Given the description of an element on the screen output the (x, y) to click on. 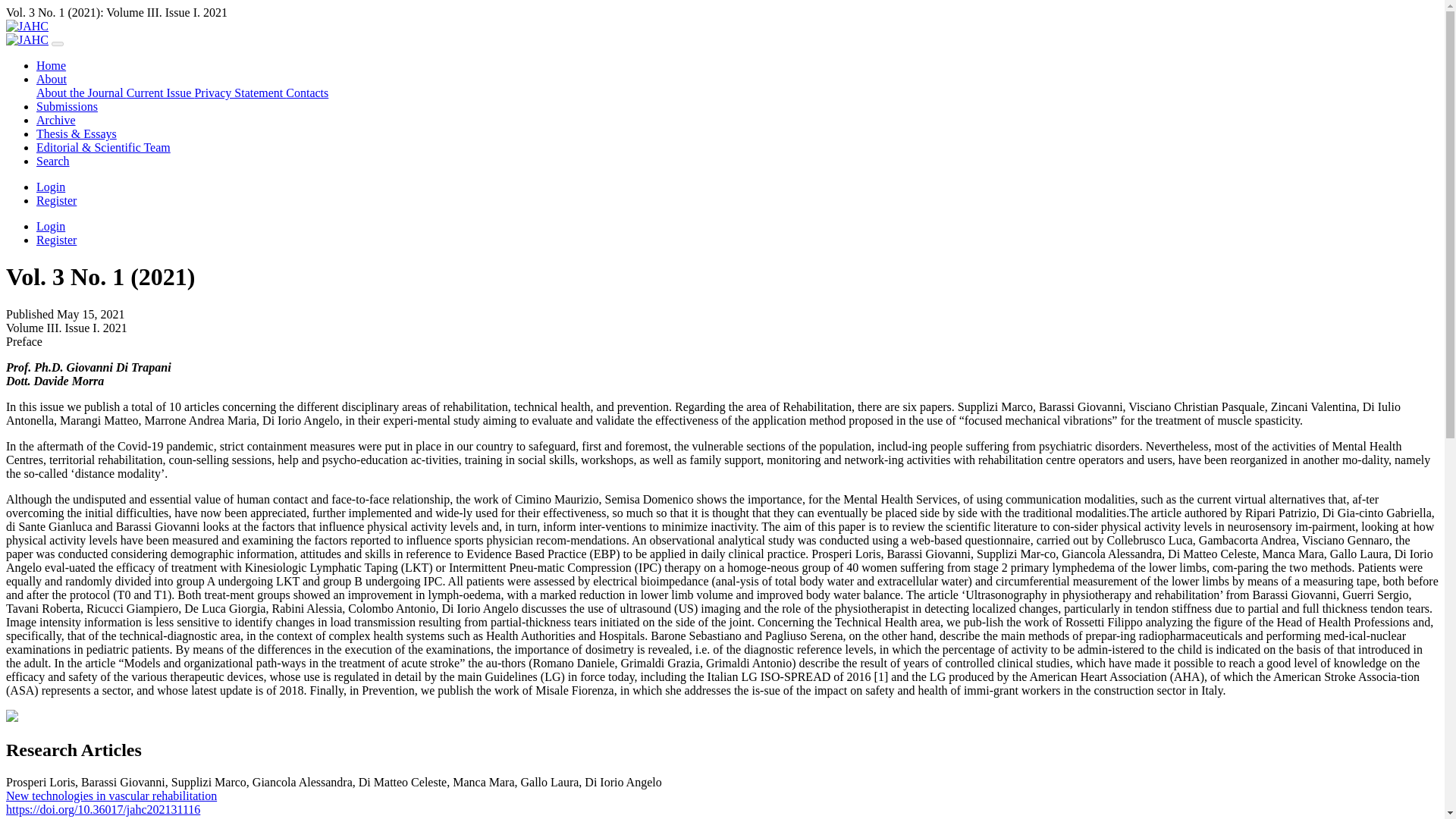
Privacy Statement (239, 92)
Archive (55, 119)
Submissions (66, 106)
Search (52, 160)
Login (50, 226)
Home (50, 65)
New technologies in vascular rehabilitation (110, 795)
About (51, 78)
Register (56, 200)
Login (50, 186)
